Given the description of an element on the screen output the (x, y) to click on. 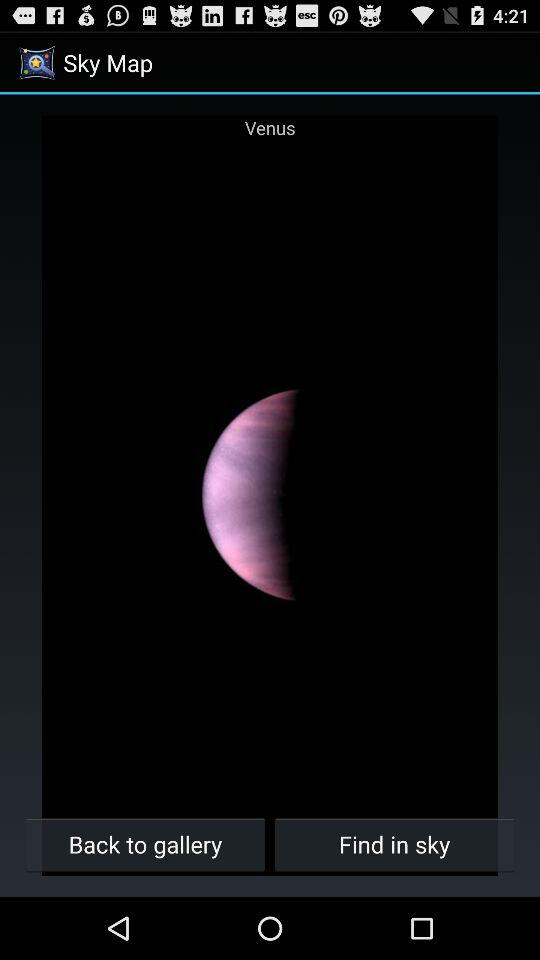
jump to the find in sky icon (394, 844)
